Given the description of an element on the screen output the (x, y) to click on. 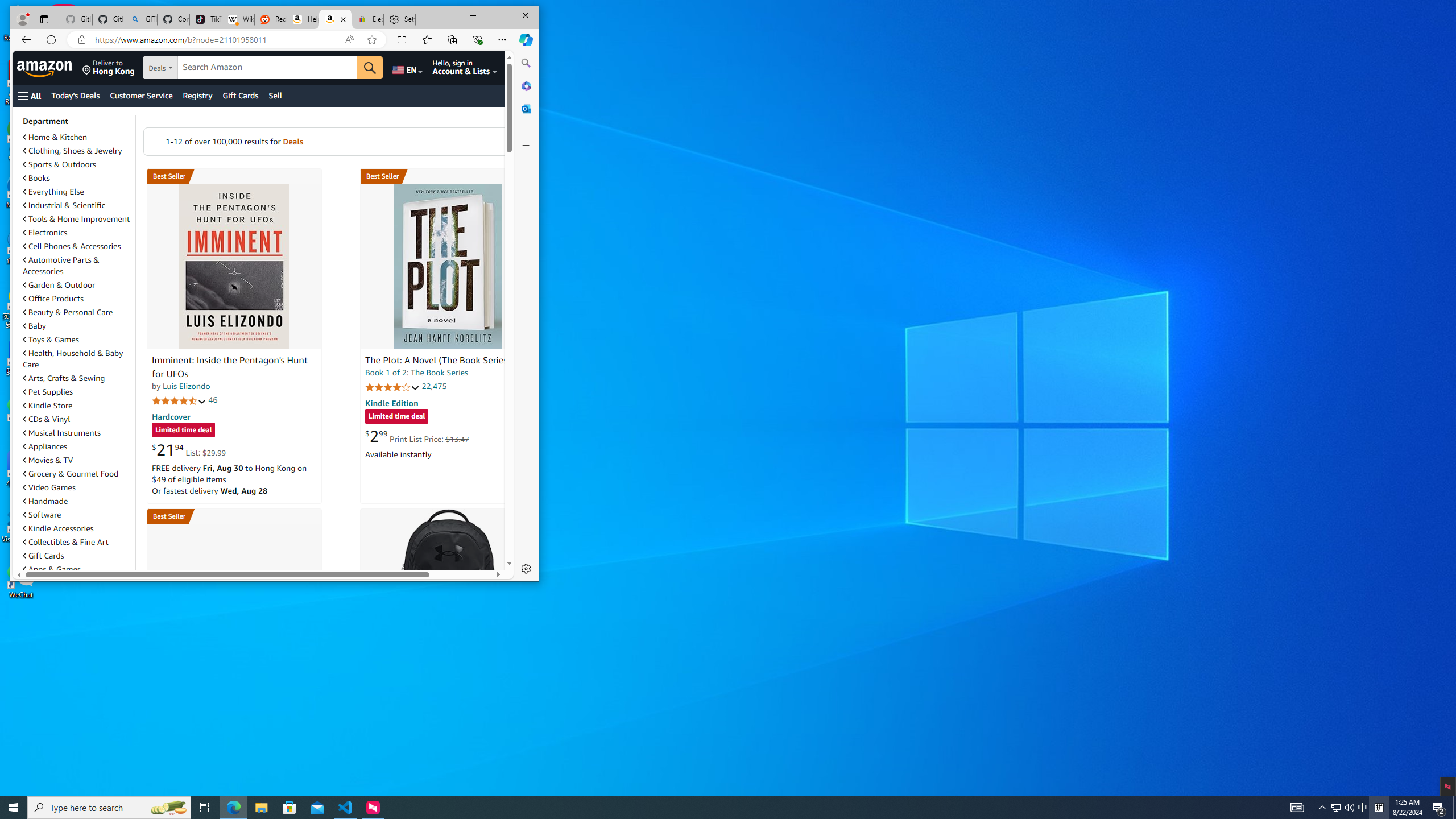
Appliances (44, 446)
Sell (274, 95)
Books (77, 177)
Industrial & Scientific (77, 205)
Movies & TV (77, 460)
Gift Cards (43, 555)
Garden & Outdoor (77, 284)
Best Seller in Heist Thrillers (447, 175)
TikTok (205, 19)
Kindle Store (77, 405)
Tools & Home Improvement (77, 218)
Gift Cards (77, 555)
Kindle Accessories (77, 527)
Type here to search (108, 807)
Industrial & Scientific (64, 204)
